Given the description of an element on the screen output the (x, y) to click on. 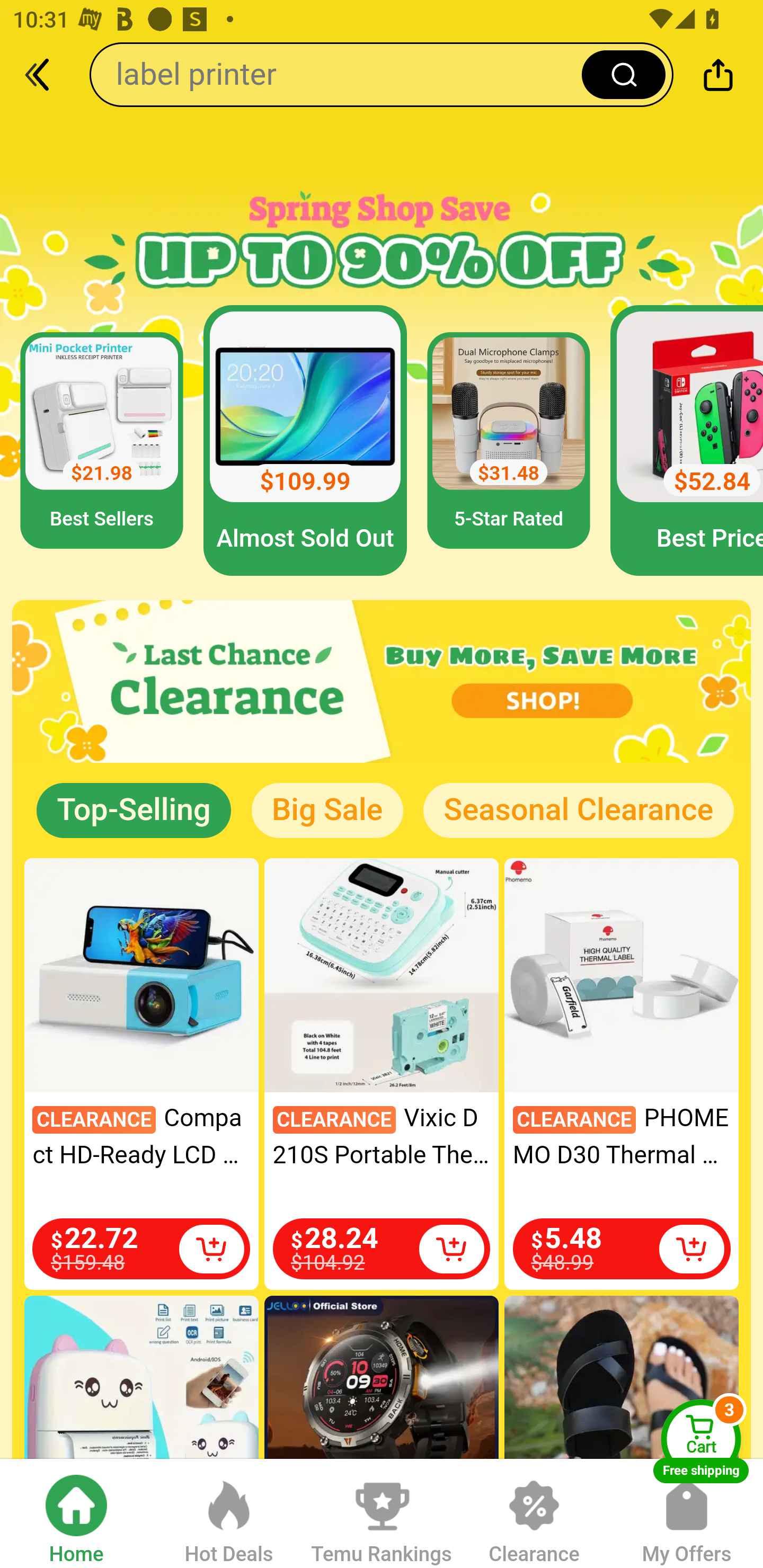
Back back (46, 74)
Cart Free shipping Cart (701, 1440)
